Given the description of an element on the screen output the (x, y) to click on. 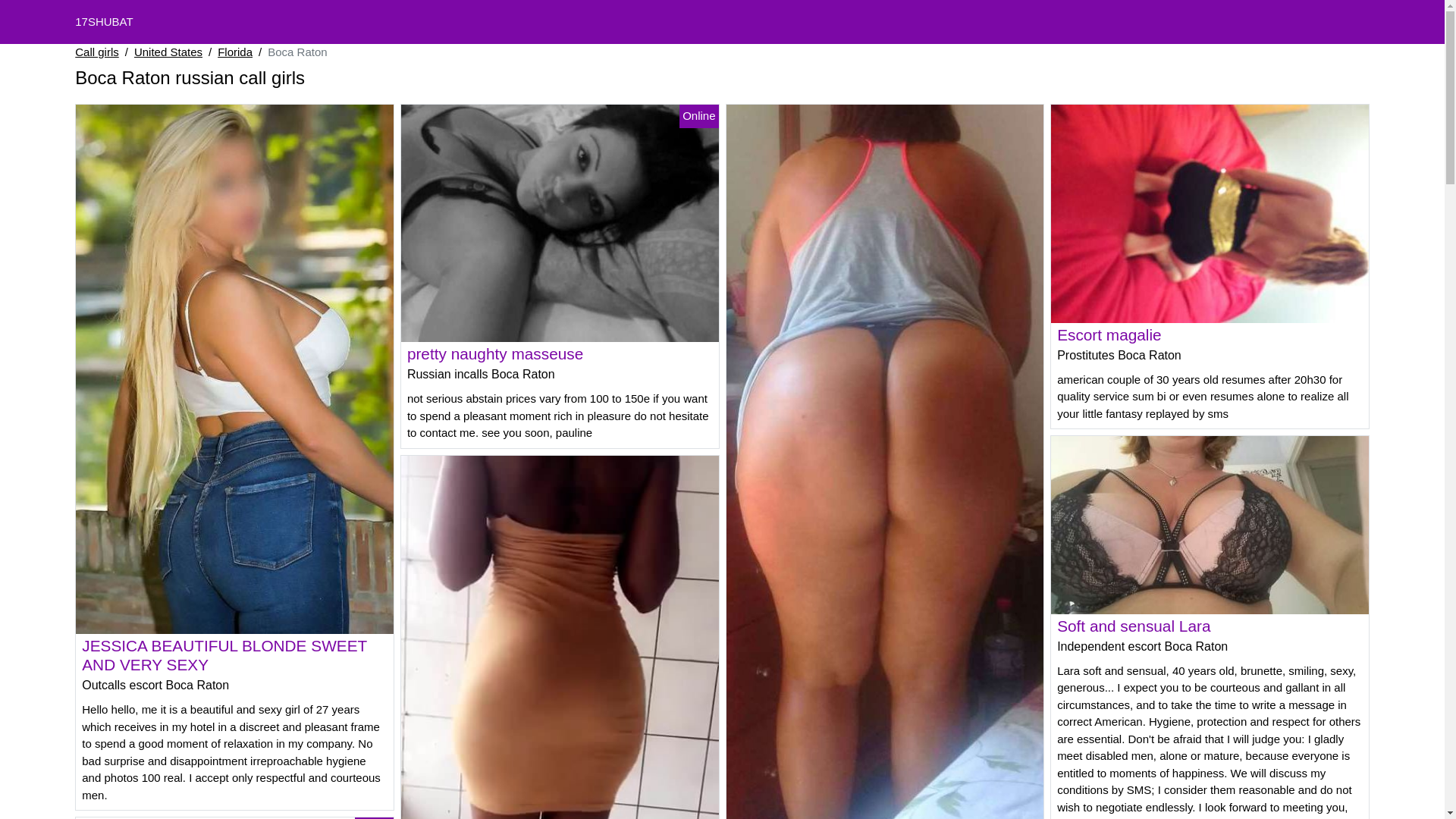
Escort magalie Element type: text (1109, 334)
United States Element type: text (168, 52)
JESSICA BEAUTIFUL BLONDE SWEET AND VERY SEXY Element type: text (224, 655)
pretty naughty masseuse Element type: text (495, 353)
Soft and sensual Lara Element type: text (1133, 625)
Florida Element type: text (234, 52)
17SHUBAT Element type: text (103, 21)
Call girls Element type: text (97, 52)
